Given the description of an element on the screen output the (x, y) to click on. 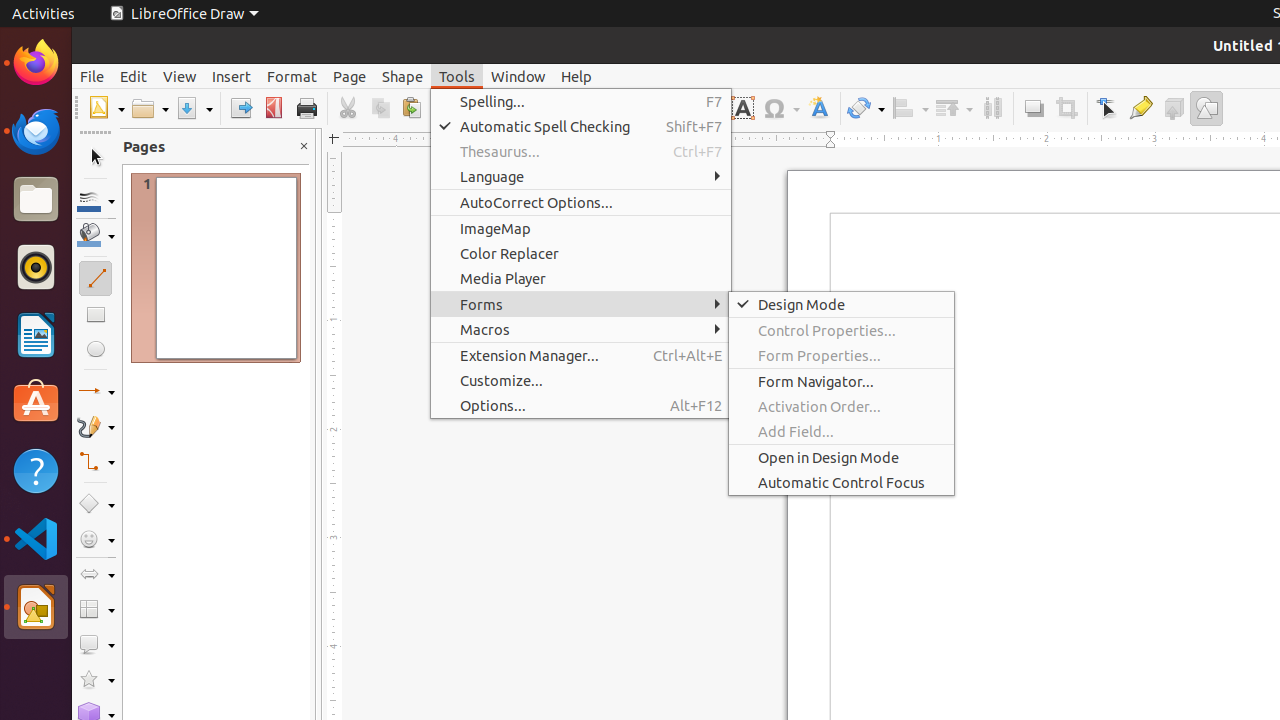
ImageMap Element type: check-menu-item (581, 228)
Crop Element type: push-button (1066, 108)
Control Properties... Element type: menu-item (841, 330)
Select Element type: push-button (95, 157)
Format Element type: menu (292, 76)
